Given the description of an element on the screen output the (x, y) to click on. 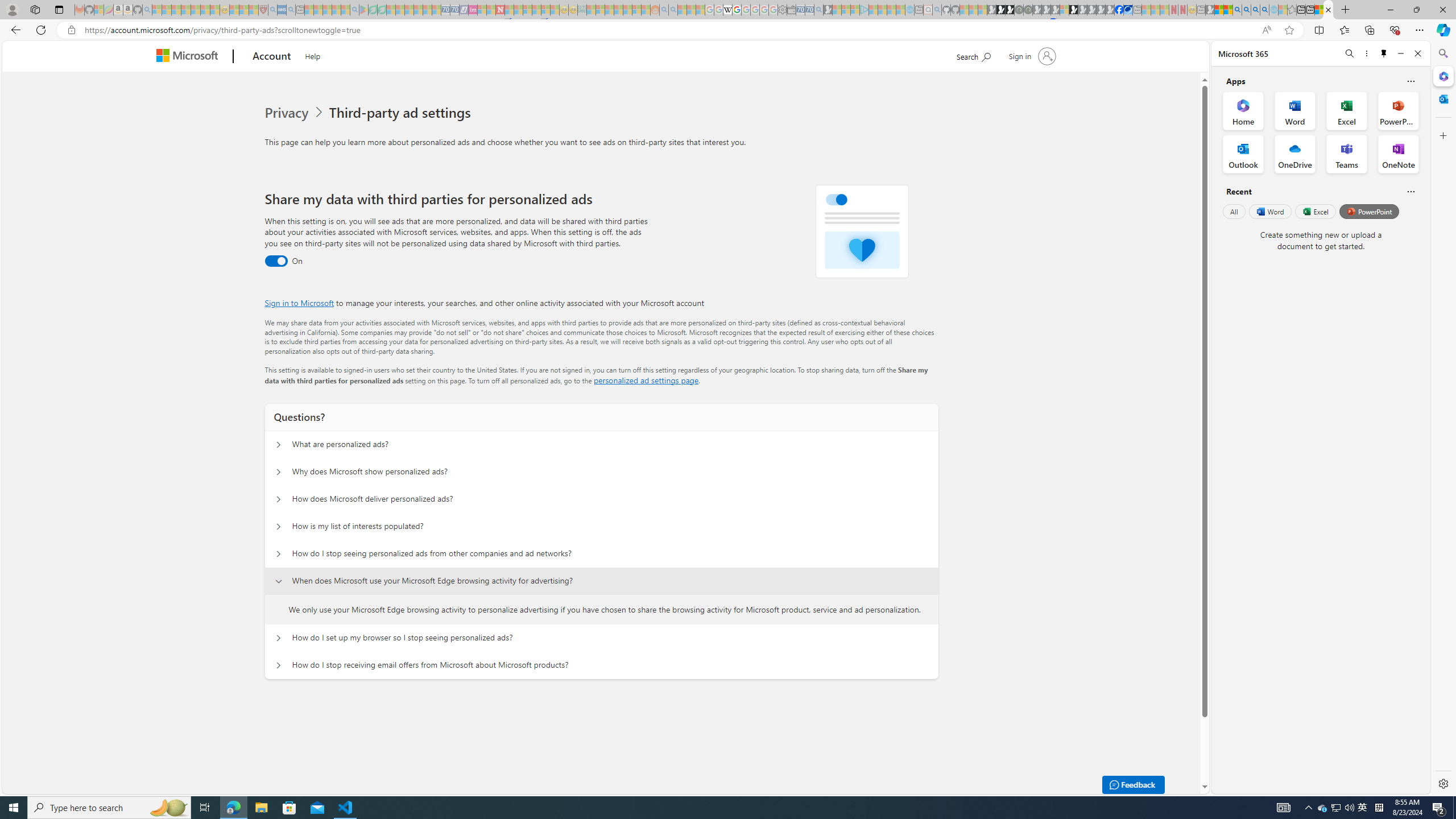
Word Office App (1295, 110)
Bluey: Let's Play! - Apps on Google Play - Sleeping (362, 9)
Word (1269, 210)
Home | Sky Blue Bikes - Sky Blue Bikes - Sleeping (908, 9)
Close Customize pane (1442, 135)
Third-party ad settings (402, 112)
